Given the description of an element on the screen output the (x, y) to click on. 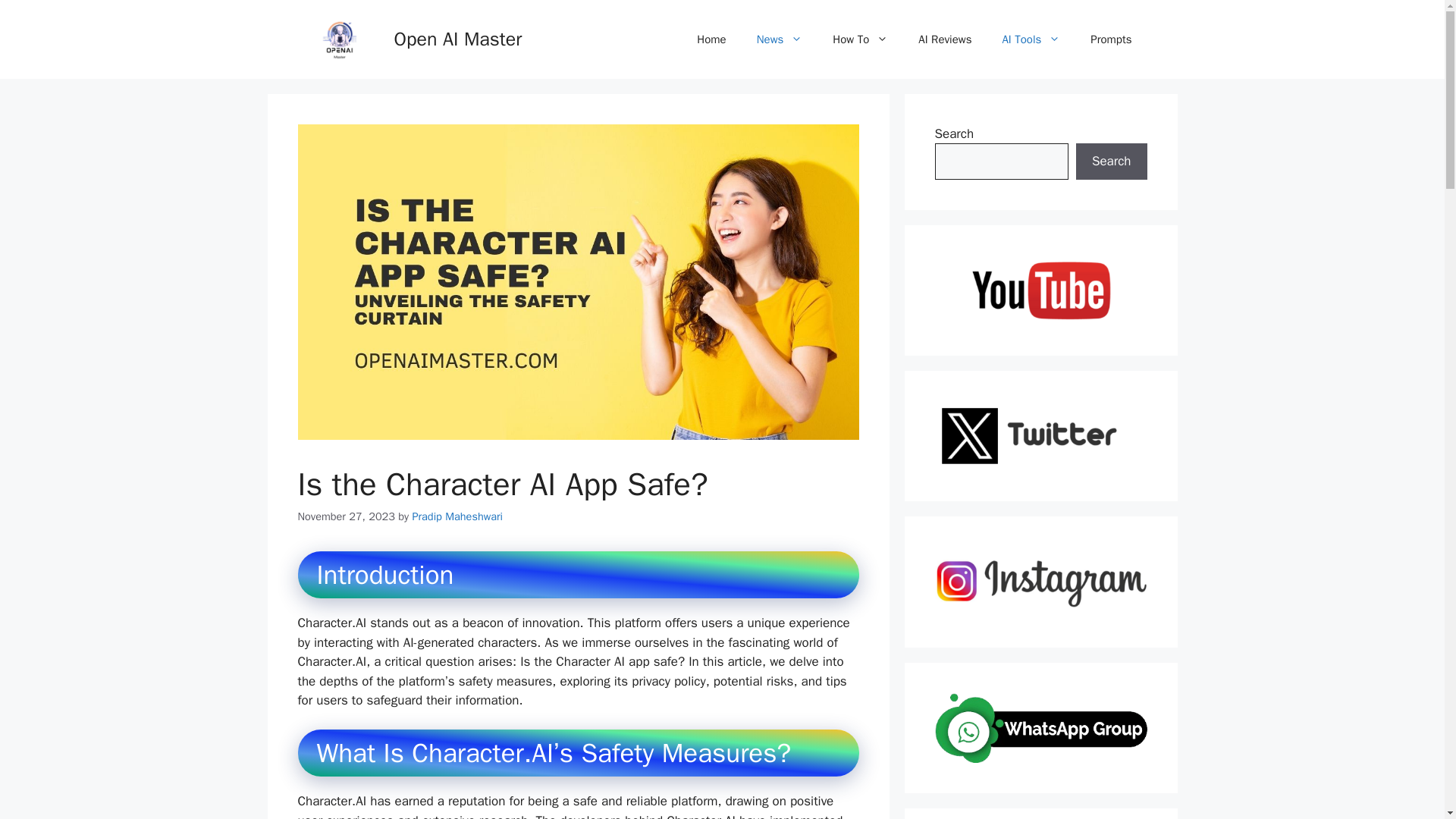
Open AI Master (458, 38)
How To (859, 39)
Prompts (1111, 39)
AI Tools (1031, 39)
AI Reviews (944, 39)
Pradip Maheshwari (457, 516)
View all posts by Pradip Maheshwari (457, 516)
News (779, 39)
Search (1111, 161)
Home (711, 39)
